Given the description of an element on the screen output the (x, y) to click on. 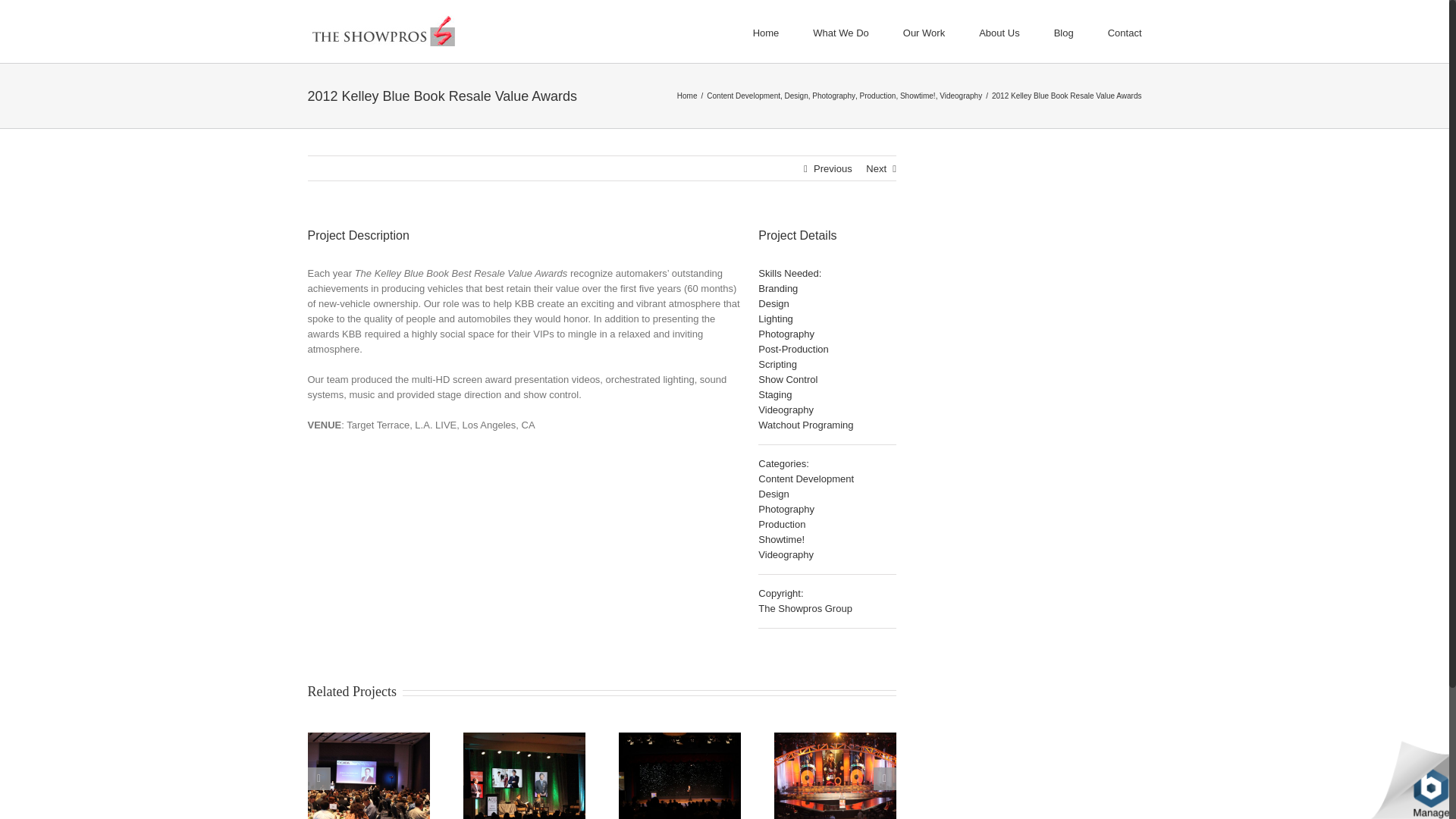
Photography (834, 95)
Videography (960, 95)
Content Development (743, 95)
Showtime! (917, 95)
Home (687, 95)
Production (878, 95)
Design (796, 95)
